Given the description of an element on the screen output the (x, y) to click on. 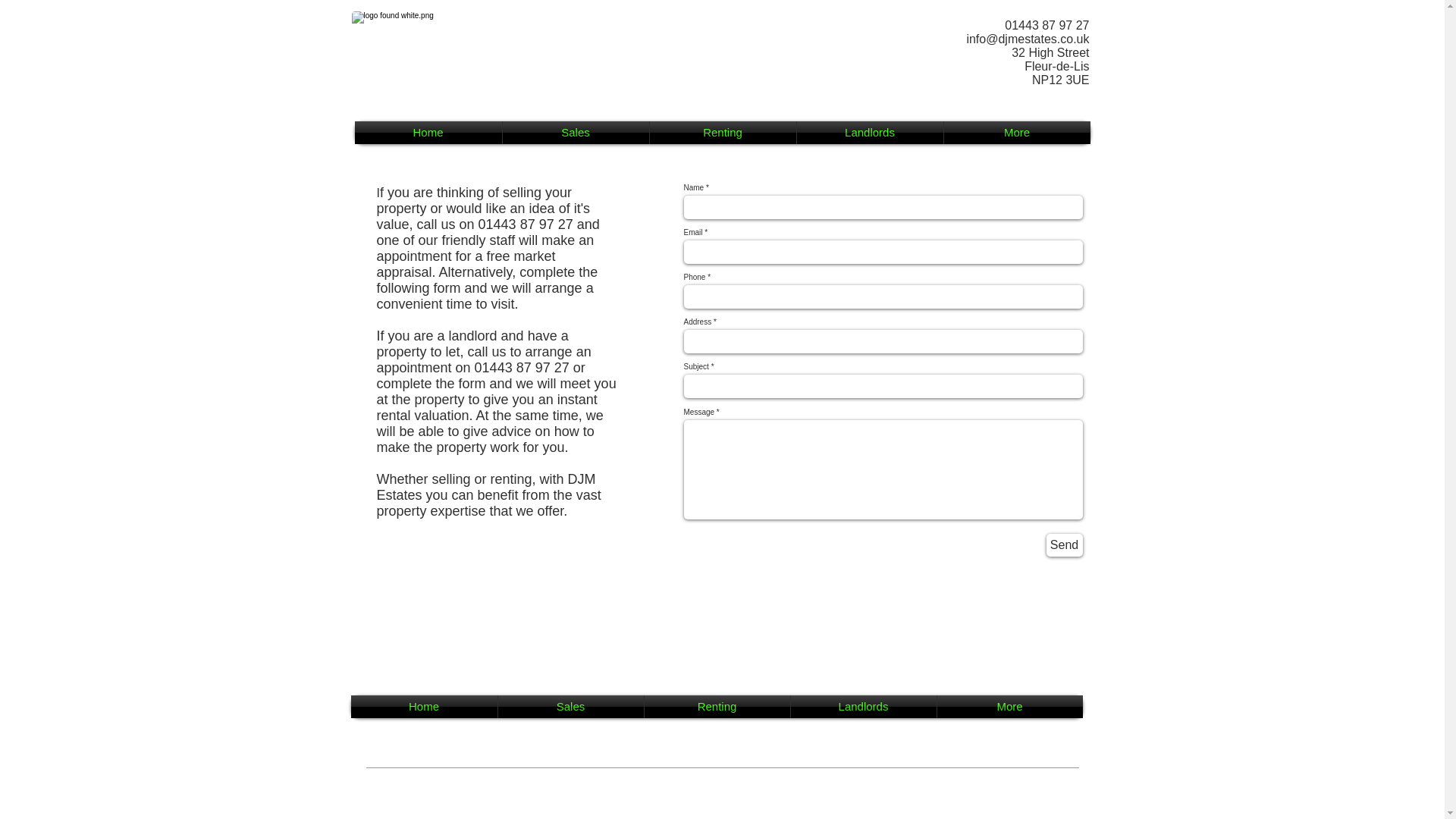
Send (1064, 544)
Sales (570, 706)
Home (423, 706)
Renting (717, 706)
Landlords (863, 706)
Renting (721, 132)
Landlords (869, 132)
Sales (574, 132)
Home (428, 132)
